Given the description of an element on the screen output the (x, y) to click on. 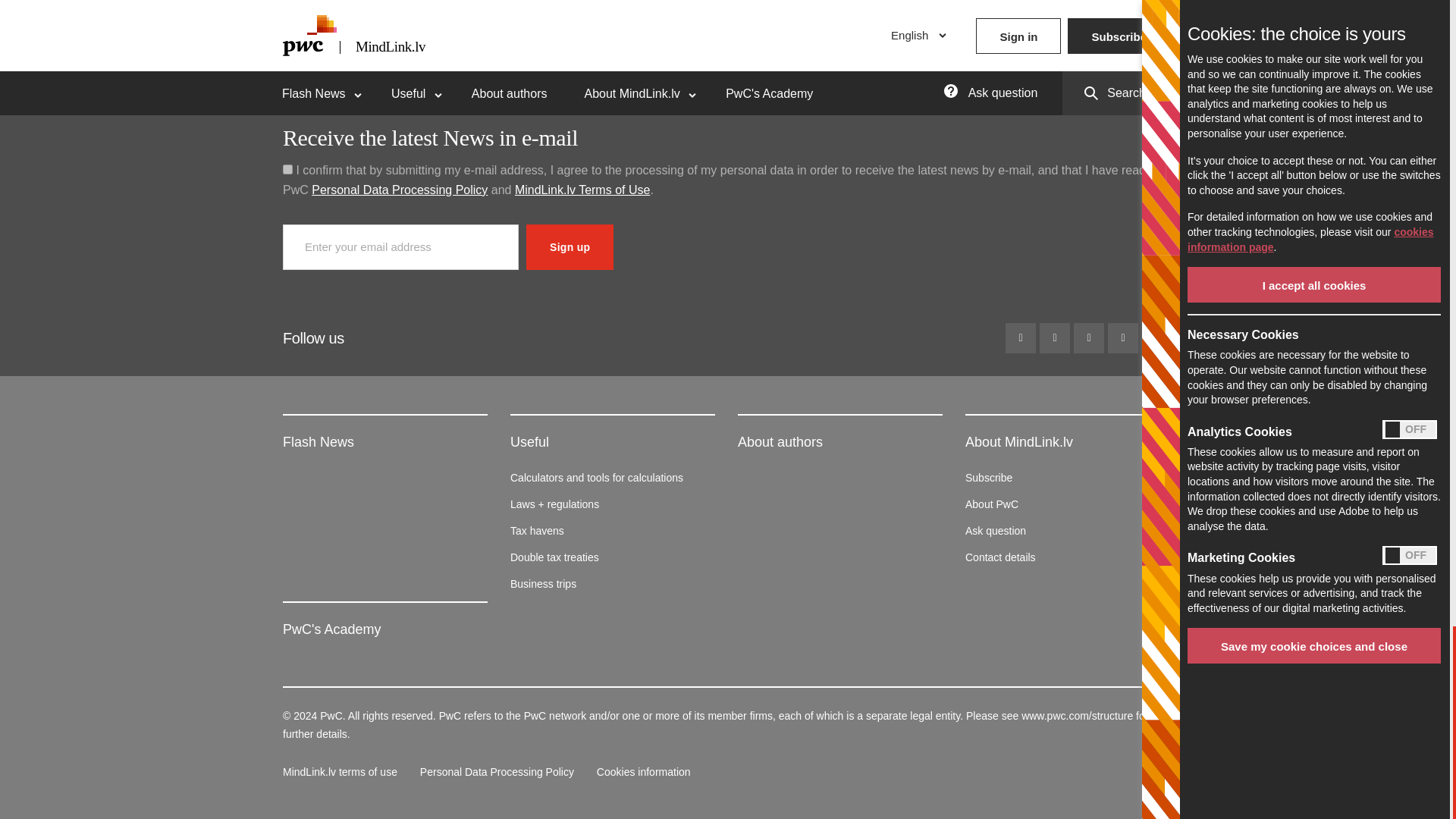
Sign up (568, 247)
on (287, 169)
